Given the description of an element on the screen output the (x, y) to click on. 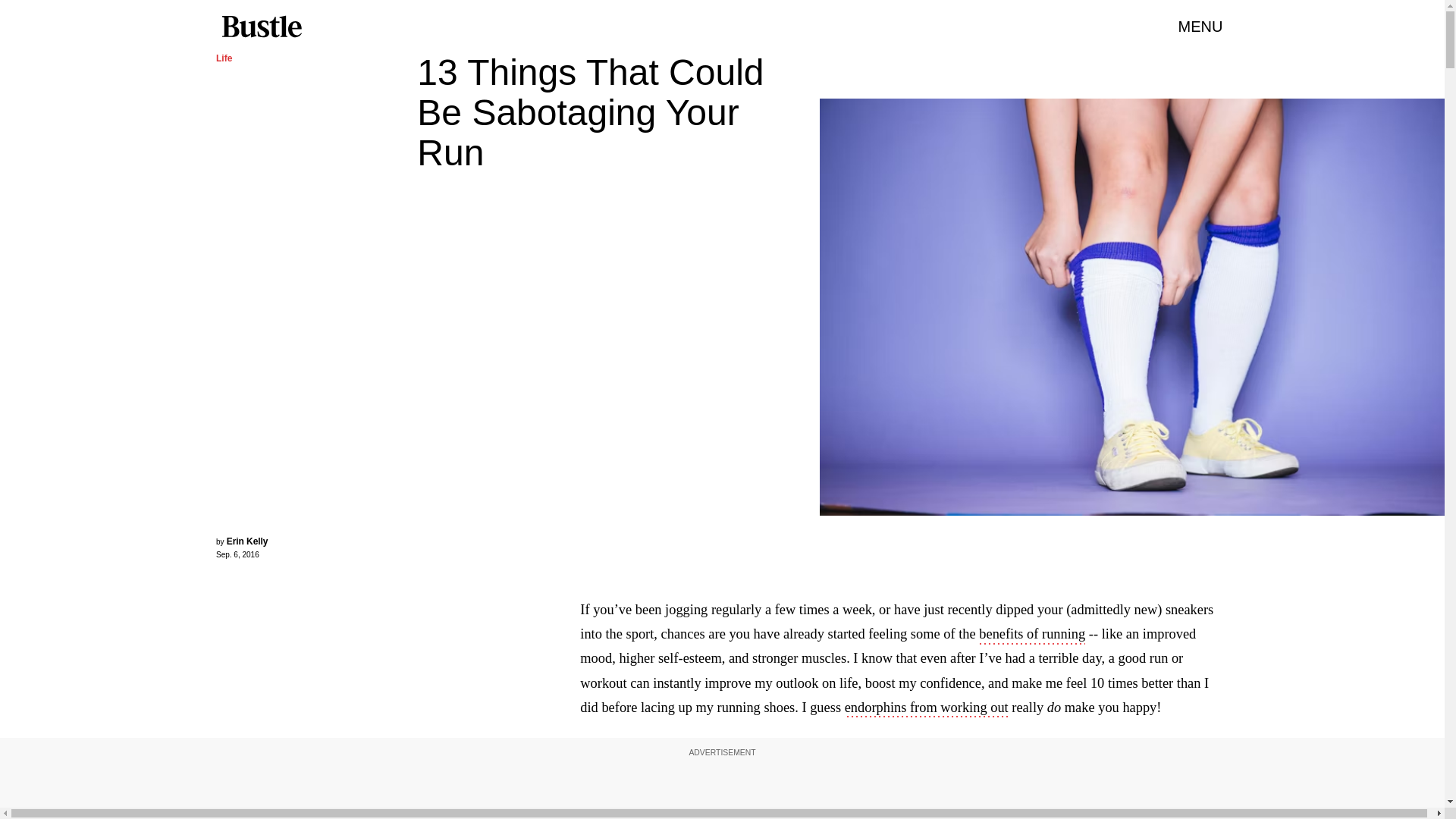
endorphins from working out (926, 709)
Bustle (261, 26)
benefits of running (1031, 635)
